Given the description of an element on the screen output the (x, y) to click on. 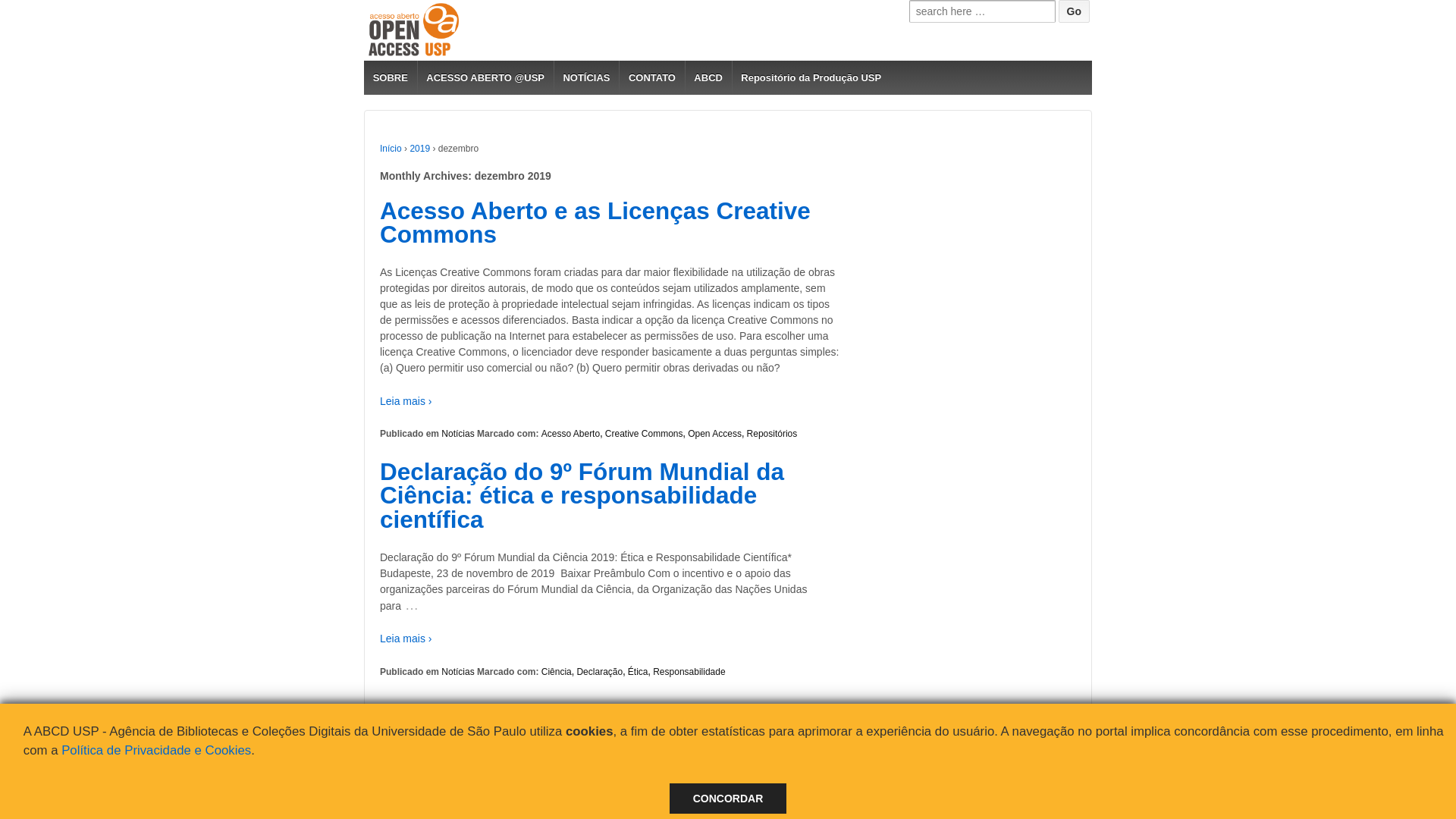
Creative Commons Element type: text (644, 433)
CONCORDAR Element type: text (728, 798)
CONTATO Element type: text (651, 77)
ABCD Element type: text (707, 77)
ACESSO ABERTO @USP Element type: text (485, 77)
CONCORDAR Element type: text (728, 798)
Acesso Aberto Element type: text (570, 433)
Go Element type: text (1073, 11)
Responsabilidade Element type: text (688, 671)
SOBRE Element type: text (390, 77)
Open Access Element type: text (714, 433)
2019 Element type: text (419, 148)
Acesso Aberto Element type: text (418, 779)
